Given the description of an element on the screen output the (x, y) to click on. 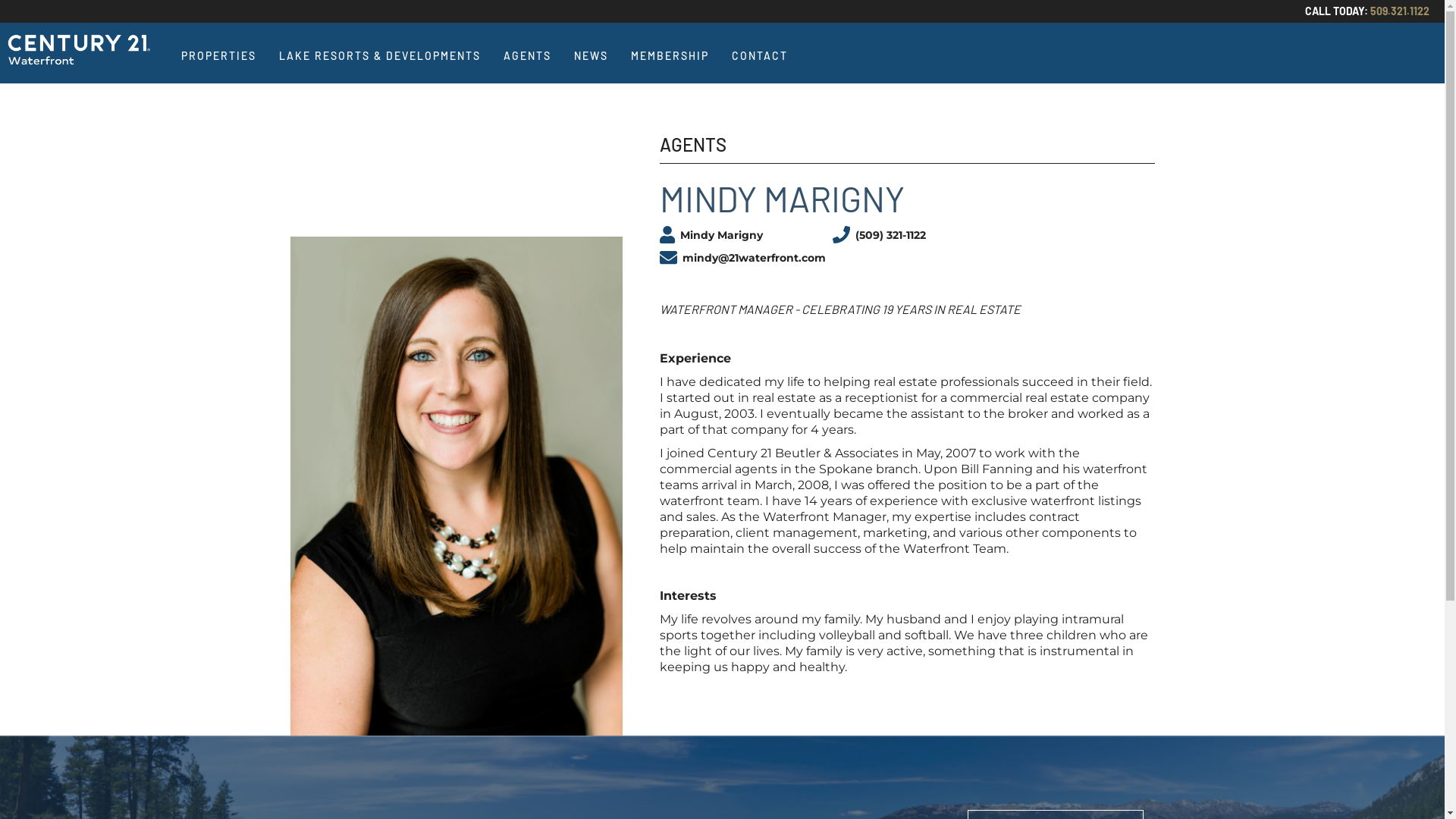
AGENTS Element type: text (527, 55)
PROPERTIES Element type: text (218, 55)
MEMBERSHIP Element type: text (669, 55)
CONTACT Element type: text (759, 55)
LAKE RESORTS & DEVELOPMENTS Element type: text (379, 55)
509.321.1122 Element type: text (1399, 10)
NEWS Element type: text (590, 55)
